Given the description of an element on the screen output the (x, y) to click on. 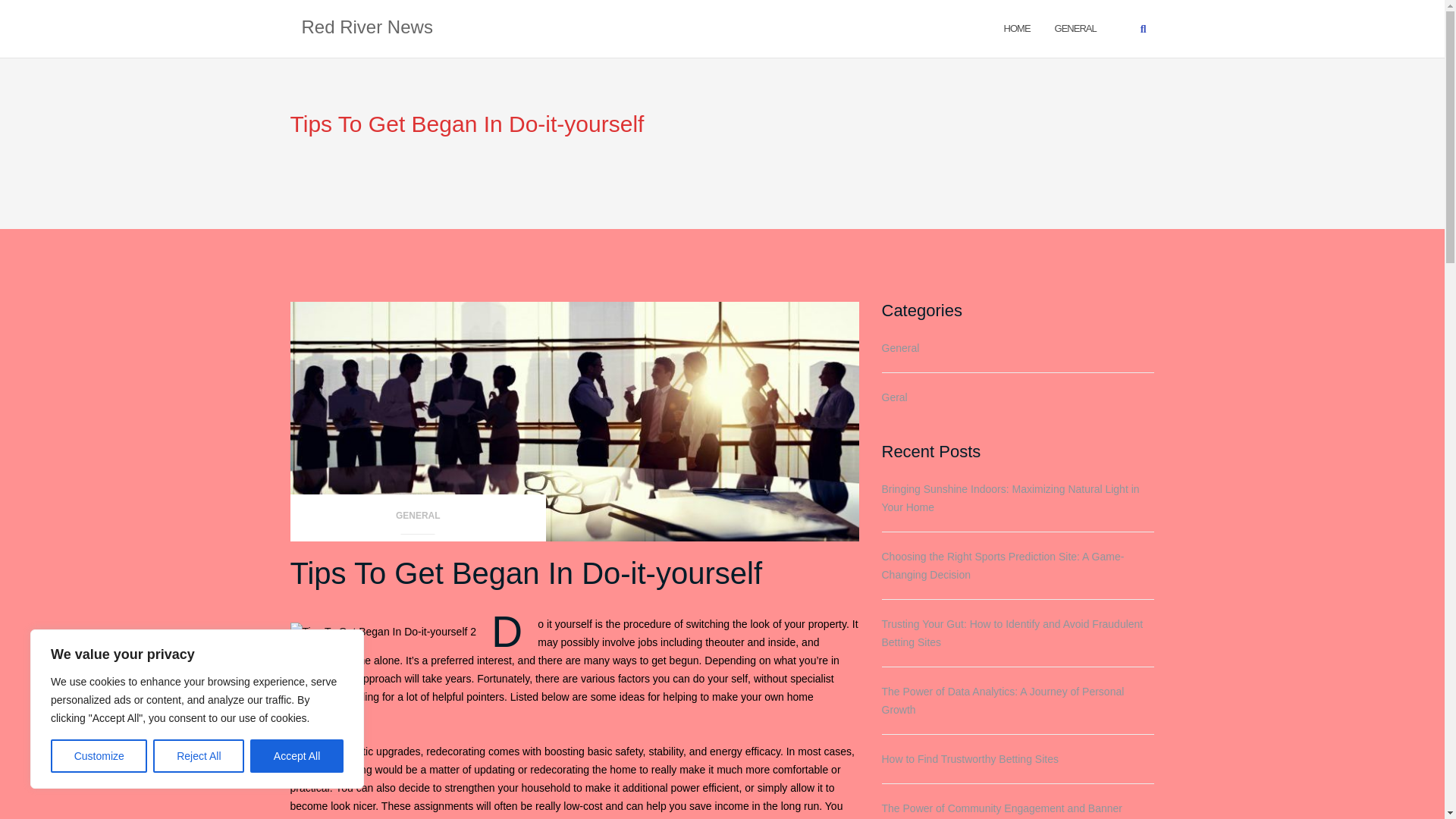
Customize (98, 756)
HOME (1017, 28)
Reject All (198, 756)
GENERAL (1075, 28)
Red River News (366, 28)
Tips To Get Began In Do-it-yourself (525, 572)
General (1075, 28)
Home (1017, 28)
GENERAL (417, 520)
Accept All (296, 756)
